Given the description of an element on the screen output the (x, y) to click on. 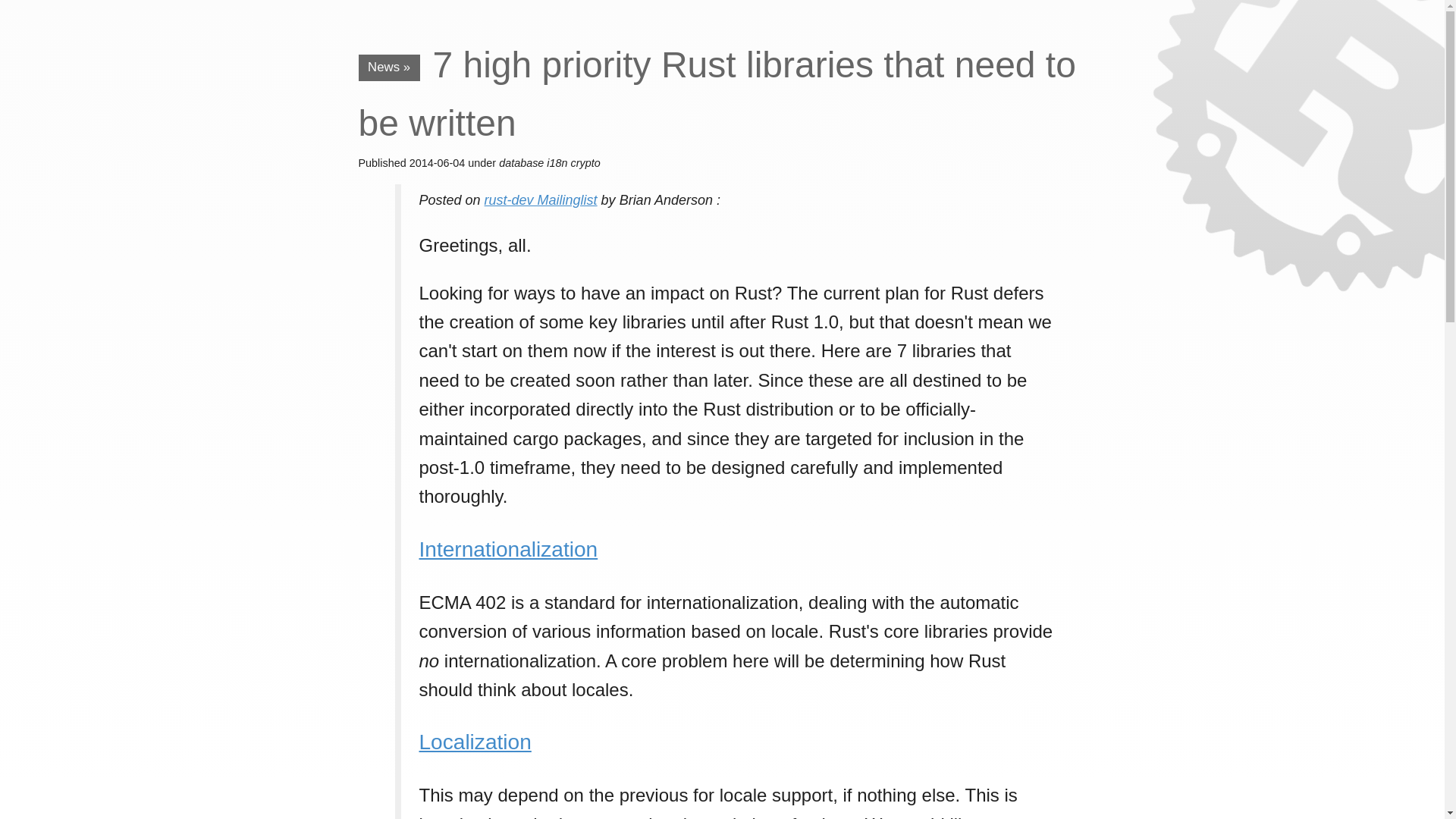
rust-dev Mailinglist (540, 200)
Internationalization (507, 549)
Localization (475, 741)
